Given the description of an element on the screen output the (x, y) to click on. 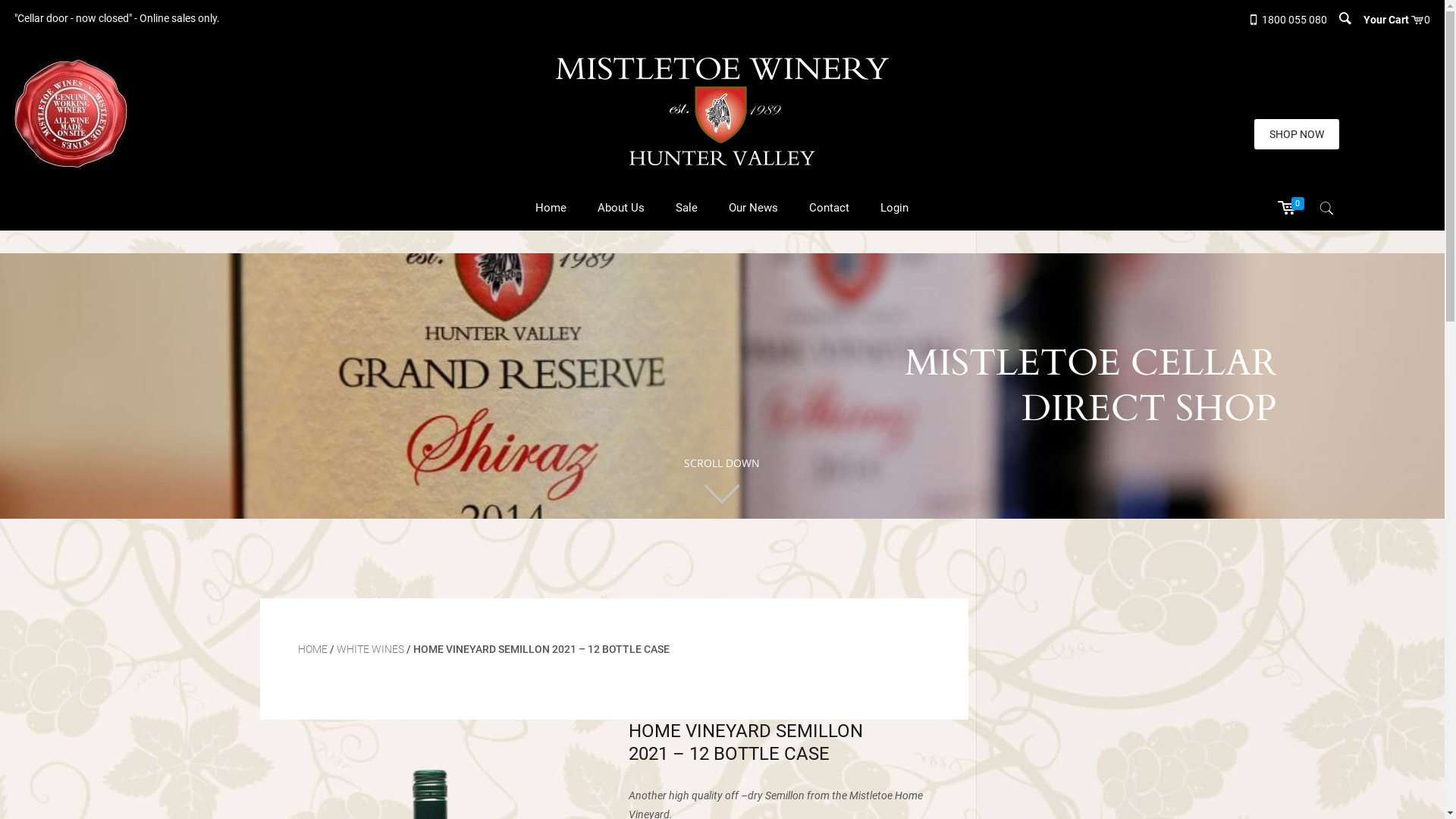
0 Element type: text (1427, 19)
Login Element type: text (894, 207)
1800 055 080 Element type: text (1294, 19)
Home Element type: text (551, 207)
Contact Element type: text (829, 207)
HOME Element type: text (311, 649)
About Us Element type: text (621, 207)
Mistletoe Winery Element type: hover (721, 111)
Our News Element type: text (753, 207)
Sale Element type: text (686, 207)
0 Element type: text (1292, 208)
SHOP NOW Element type: text (1296, 134)
WHITE WINES Element type: text (370, 649)
